Given the description of an element on the screen output the (x, y) to click on. 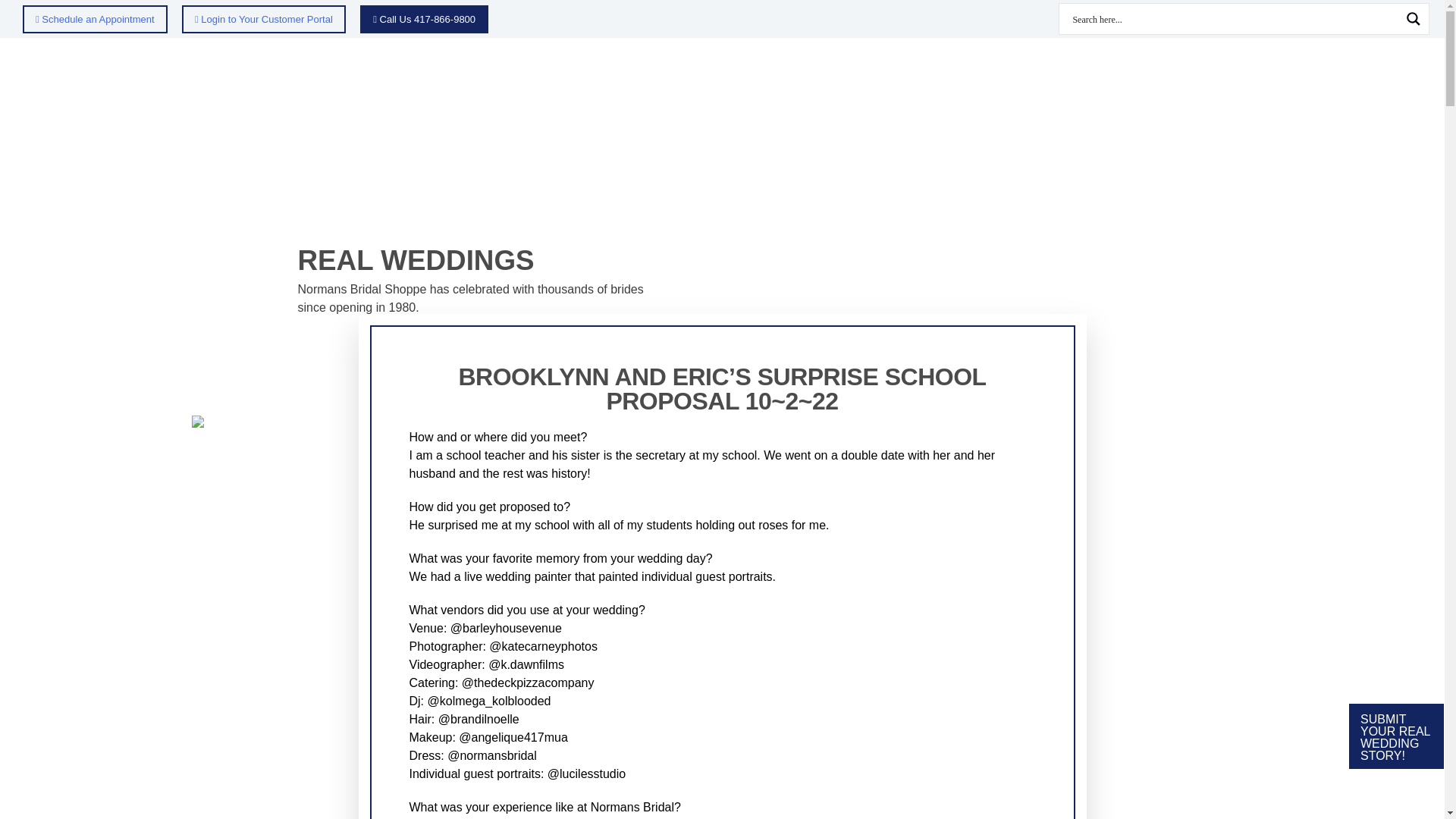
be9 (721, 421)
Login to Your Customer Portal (264, 18)
WEDDING DRESSES (454, 80)
Call Us 417-866-9800 (423, 18)
Schedule an Appointment (95, 18)
